Given the description of an element on the screen output the (x, y) to click on. 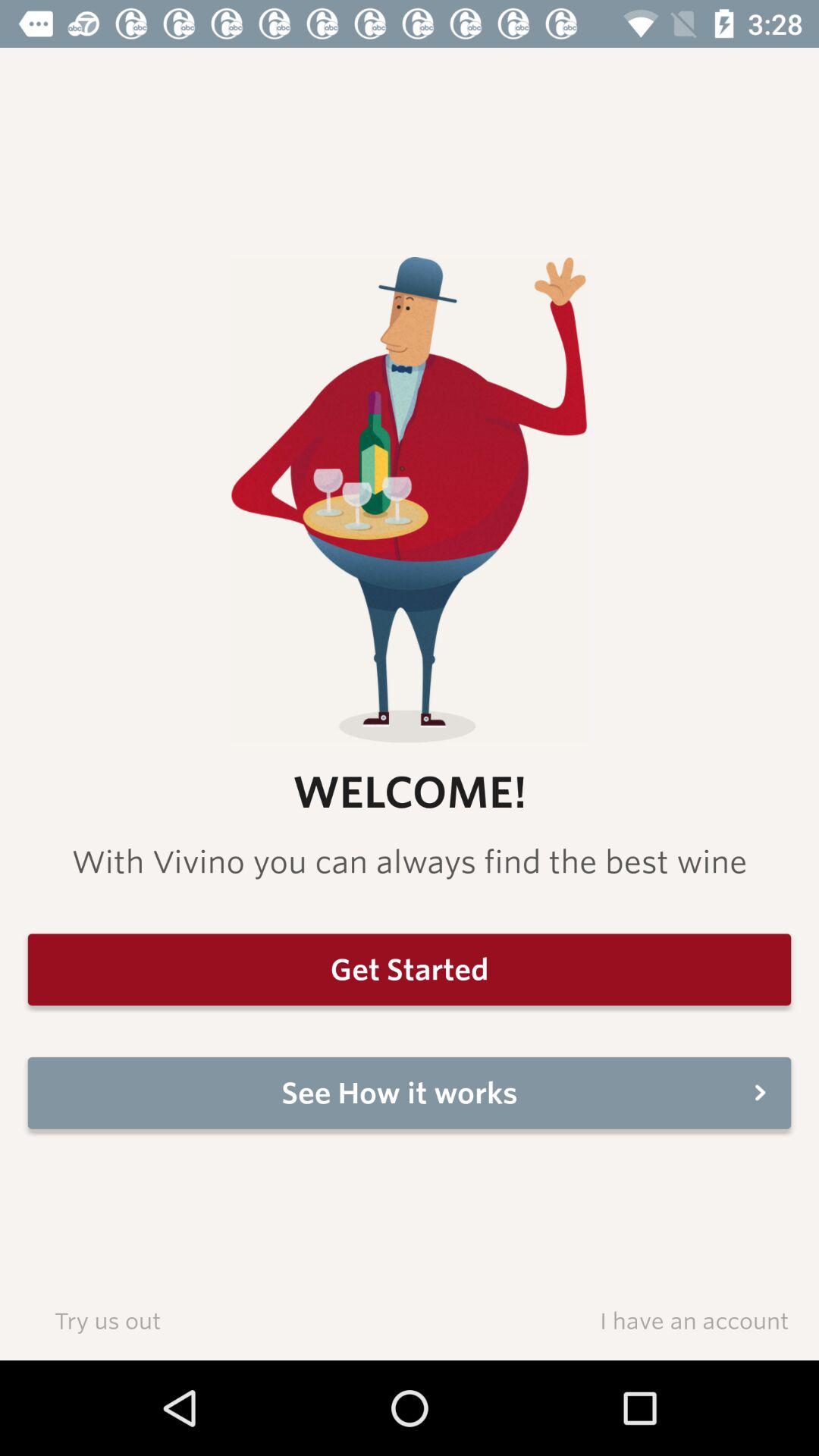
launch icon below see how it icon (694, 1320)
